Given the description of an element on the screen output the (x, y) to click on. 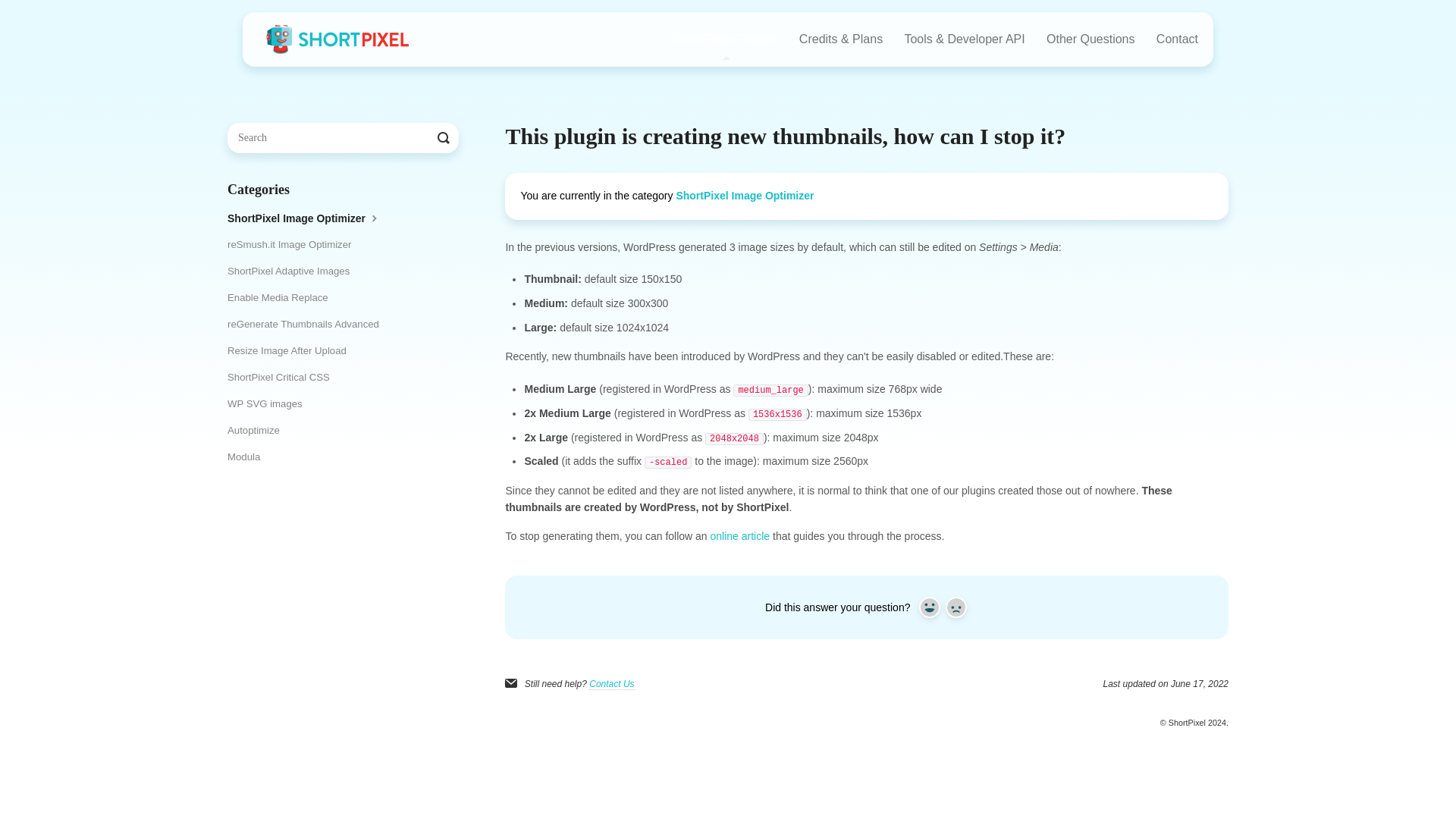
Yes (929, 607)
ShortPixel Image Optimizer (310, 218)
ShortPixel Image Optimizer (744, 195)
Modula (248, 457)
Contact (1177, 38)
ShortPixel Critical CSS (283, 377)
WordPress Plugins (726, 38)
Resize Image After Upload (292, 351)
search-query (342, 137)
Enable Media Replace (283, 297)
online article (740, 535)
No (955, 607)
Autoptimize (259, 430)
Contact Us (611, 684)
WP SVG images (270, 404)
